Given the description of an element on the screen output the (x, y) to click on. 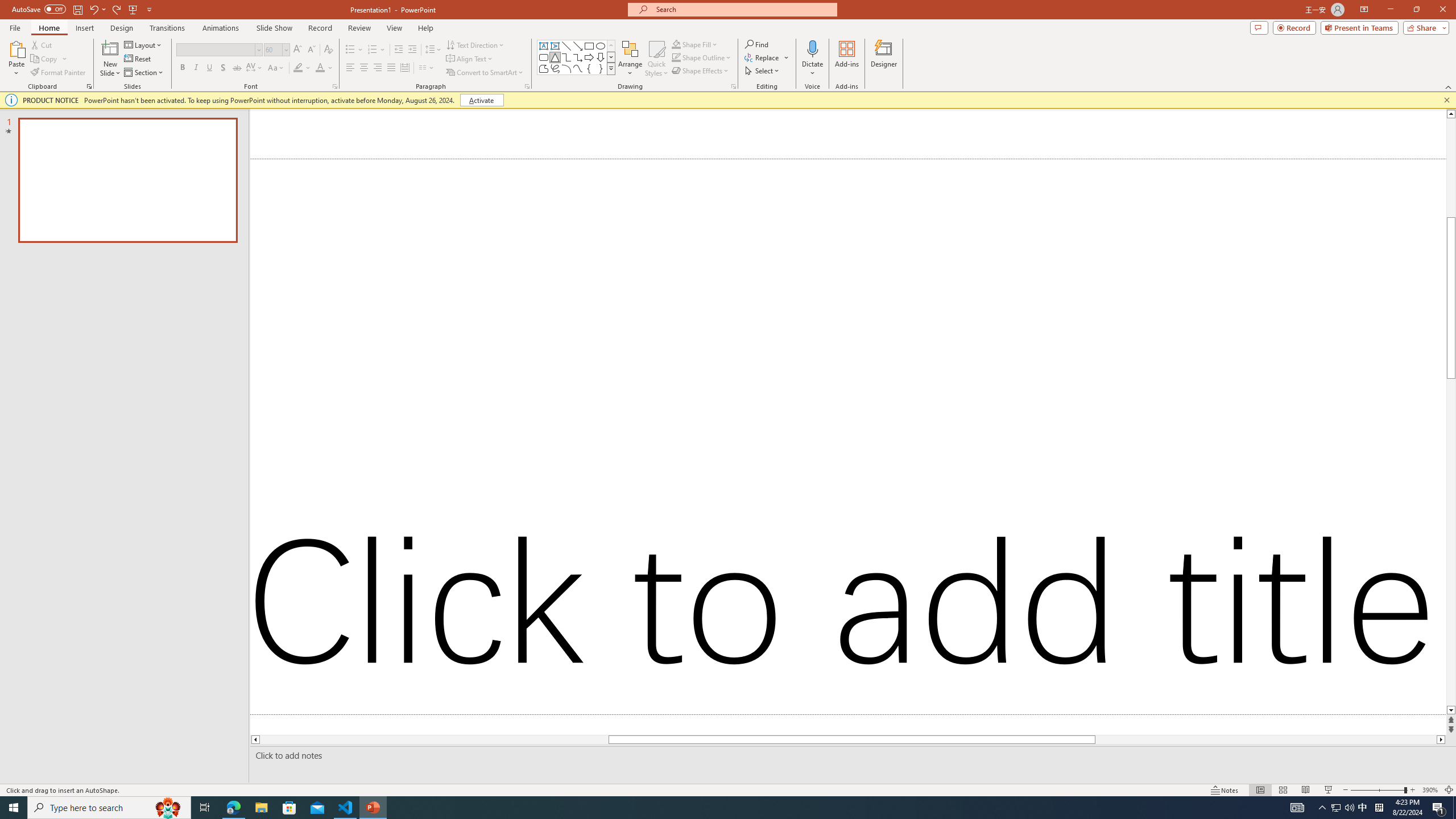
Find... (756, 44)
